Given the description of an element on the screen output the (x, y) to click on. 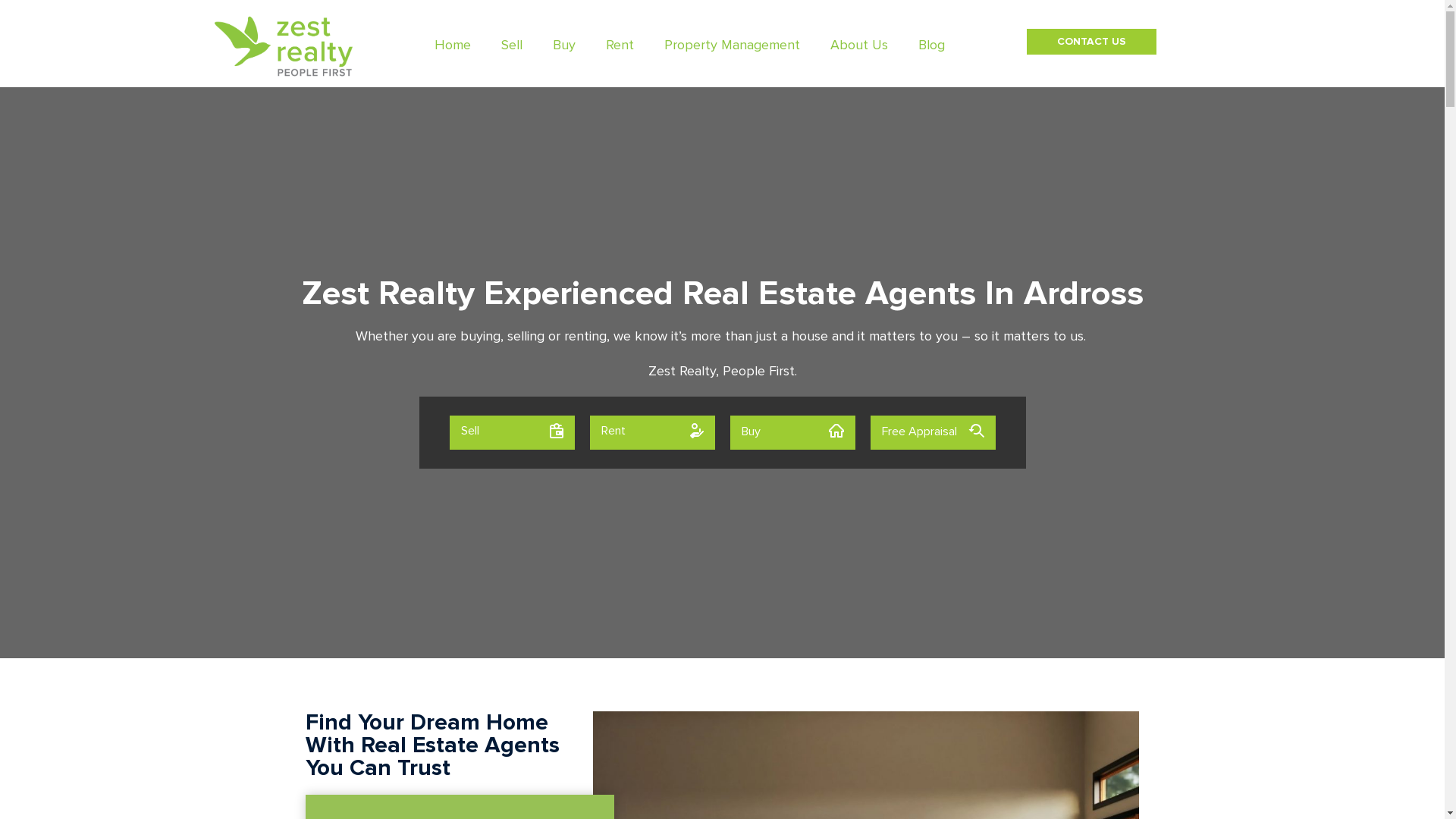
Blog Element type: text (931, 45)
Free Appraisal Element type: text (932, 432)
Property Management Element type: text (732, 45)
Home Element type: text (452, 45)
About Us Element type: text (859, 45)
Sell Element type: text (511, 432)
CONTACT US Element type: text (1091, 41)
Buy Element type: text (791, 432)
Buy Element type: text (563, 45)
Sell Element type: text (511, 45)
Rent Element type: text (619, 45)
Rent Element type: text (652, 432)
